Given the description of an element on the screen output the (x, y) to click on. 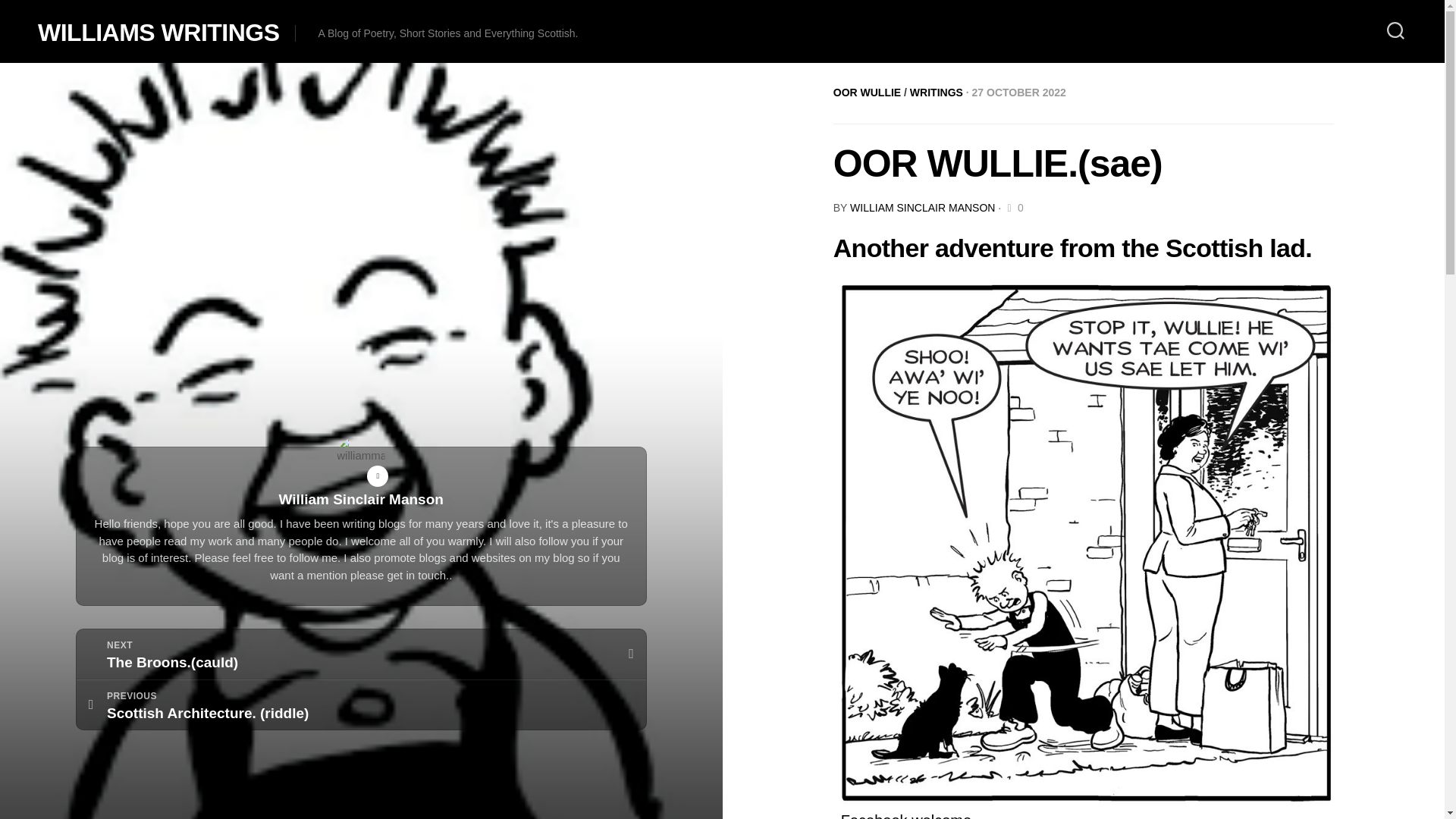
WILLIAMS WRITINGS (158, 32)
0 (1013, 207)
WILLIAM SINCLAIR MANSON (922, 207)
WRITINGS (936, 92)
OOR WULLIE (866, 92)
Posts by William Sinclair Manson (922, 207)
